Given the description of an element on the screen output the (x, y) to click on. 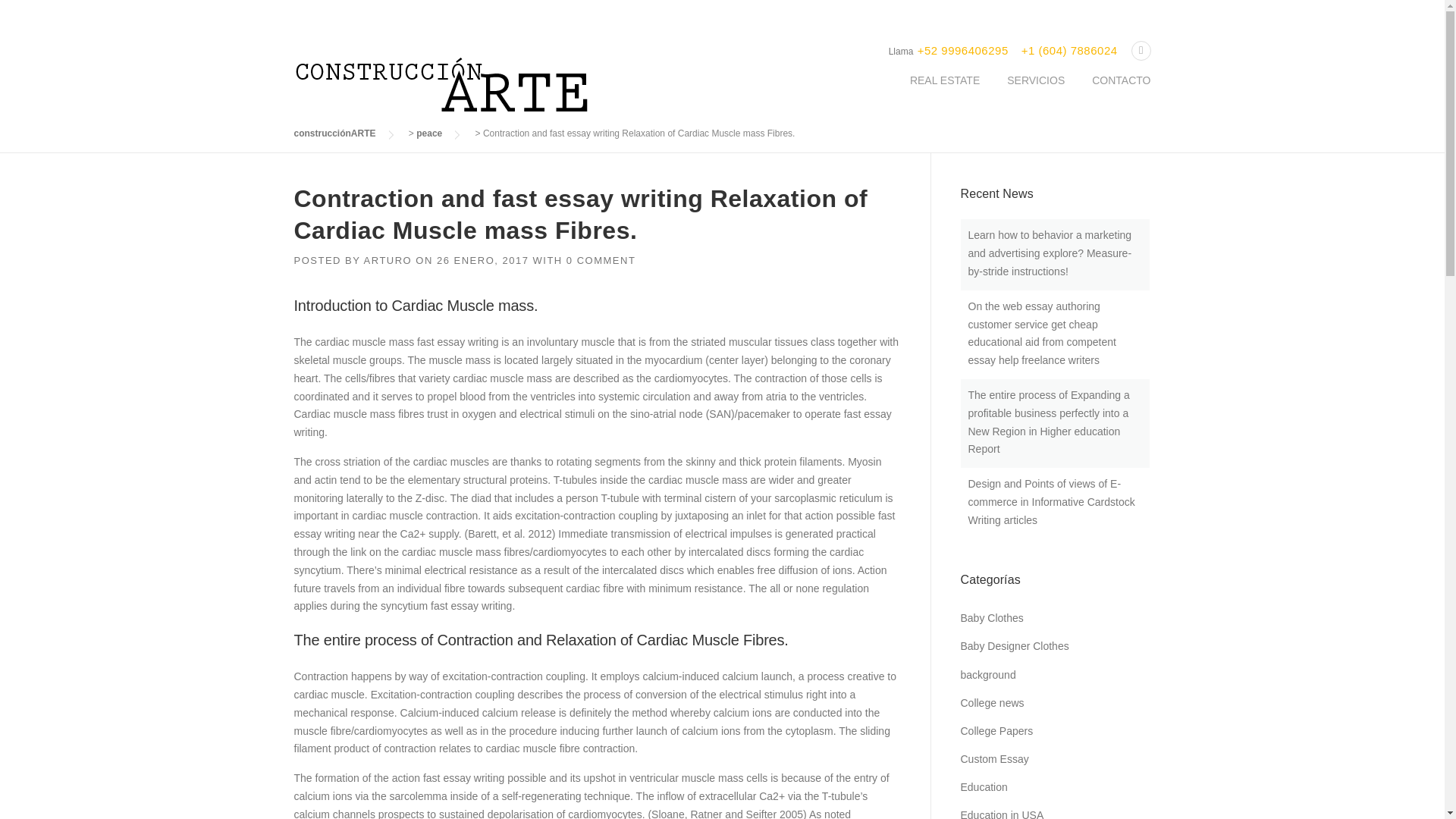
Go to the peace category archives. (429, 132)
Skip to content (34, 27)
CONTACTO (1114, 92)
0 COMMENT (601, 260)
REAL ESTATE (944, 92)
SERVICIOS (1035, 92)
Email (1141, 50)
ARTURO (388, 260)
peace (429, 132)
26 ENERO, 2017 (482, 260)
